Given the description of an element on the screen output the (x, y) to click on. 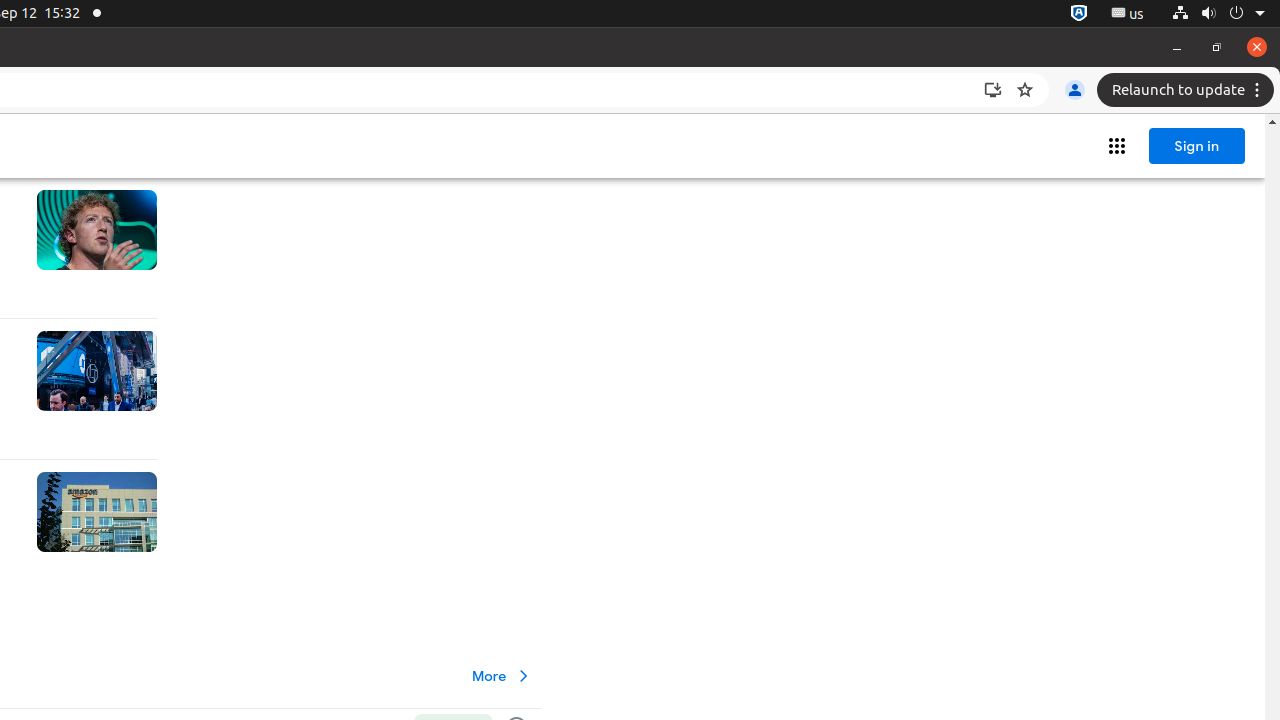
:1.72/StatusNotifierItem Element type: menu (1079, 13)
Install Google Finance Element type: push-button (993, 90)
View more Element type: link (502, 676)
Relaunch to update Element type: push-button (1188, 90)
:1.21/StatusNotifierItem Element type: menu (1127, 13)
